Given the description of an element on the screen output the (x, y) to click on. 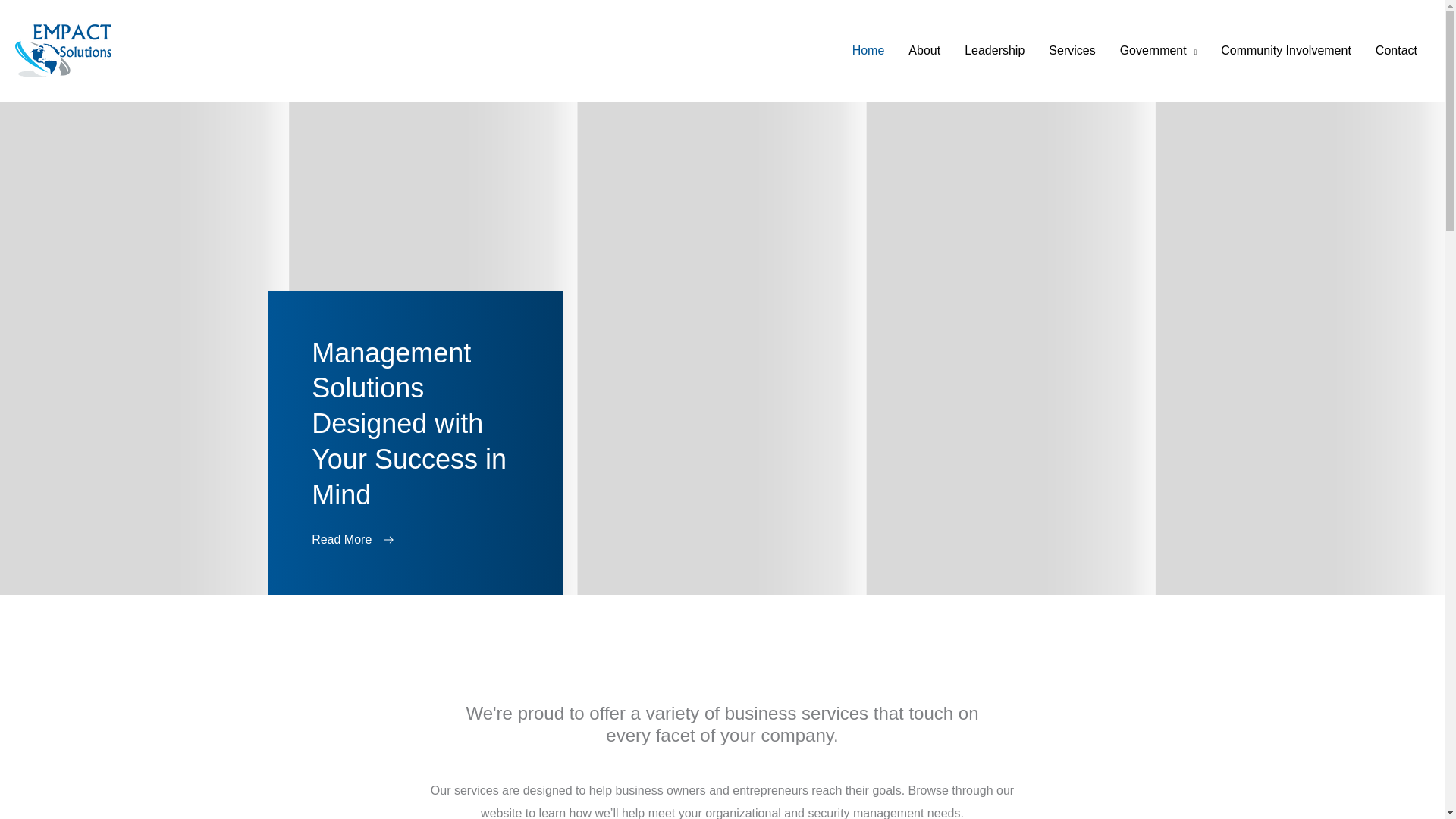
Contact (1395, 50)
About (924, 50)
Read More (352, 540)
Services (1071, 50)
Community Involvement (1285, 50)
Home (868, 50)
Government (1158, 50)
Leadership (994, 50)
